Given the description of an element on the screen output the (x, y) to click on. 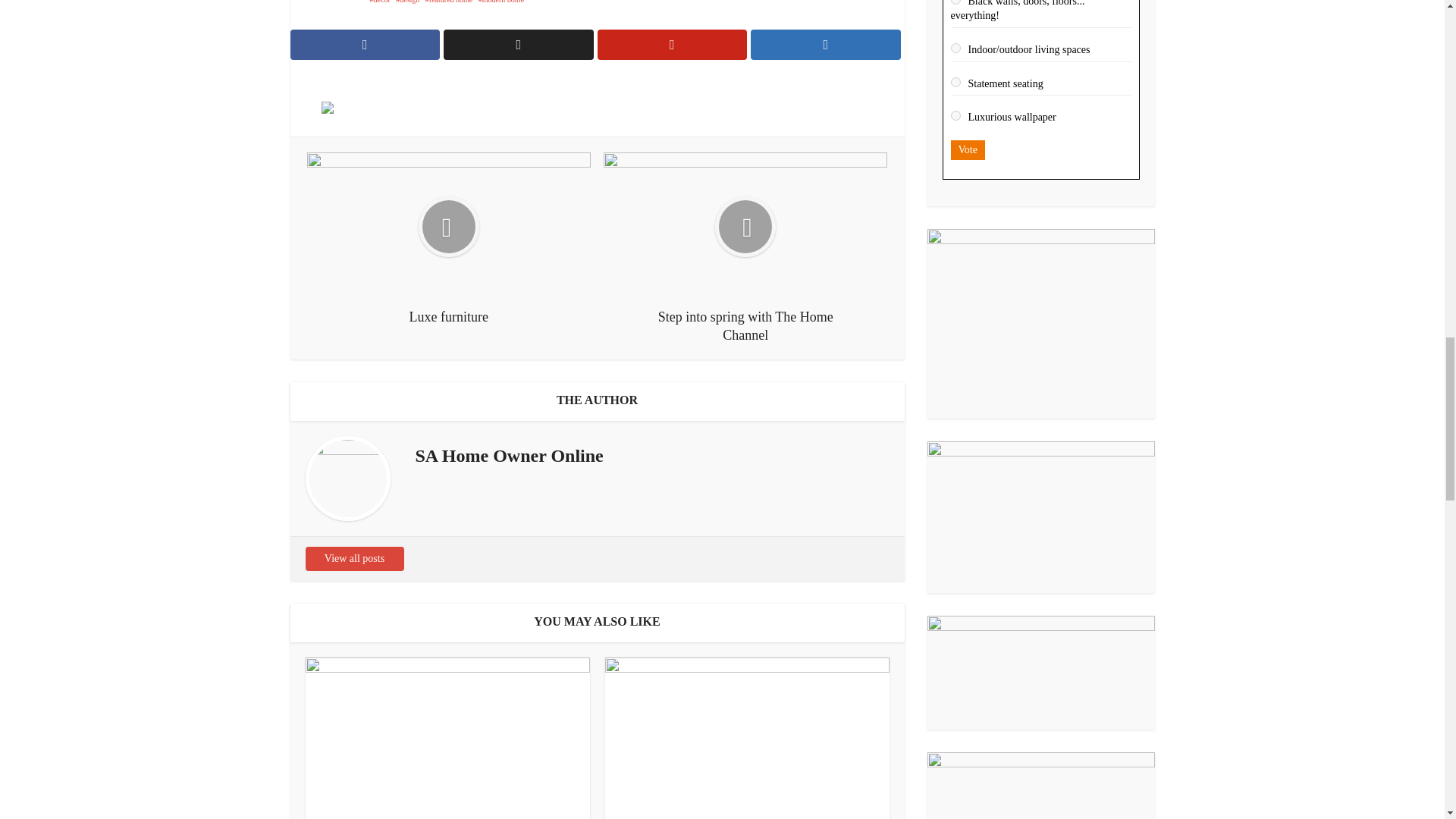
4 (955, 48)
3 (955, 2)
6 (955, 115)
5 (955, 81)
